Given the description of an element on the screen output the (x, y) to click on. 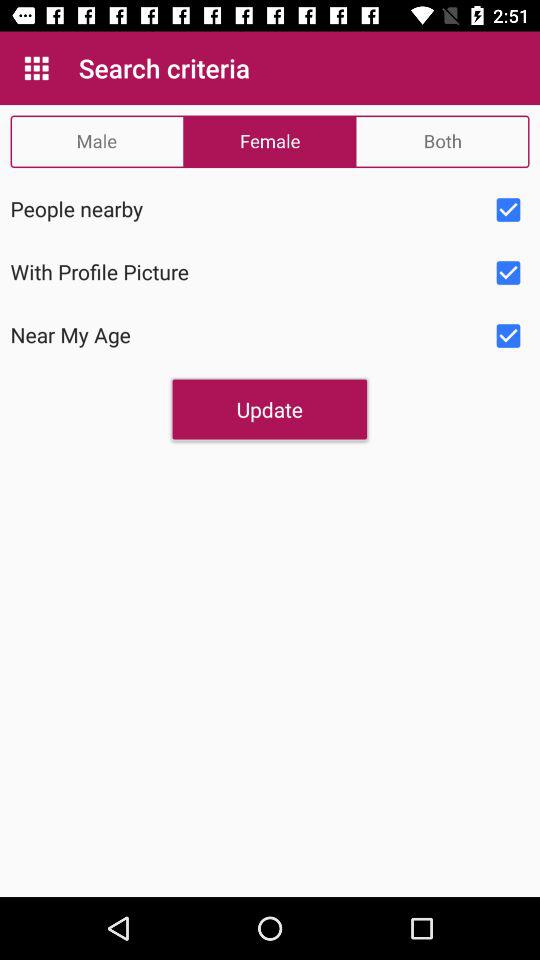
go to tick button (508, 210)
